Given the description of an element on the screen output the (x, y) to click on. 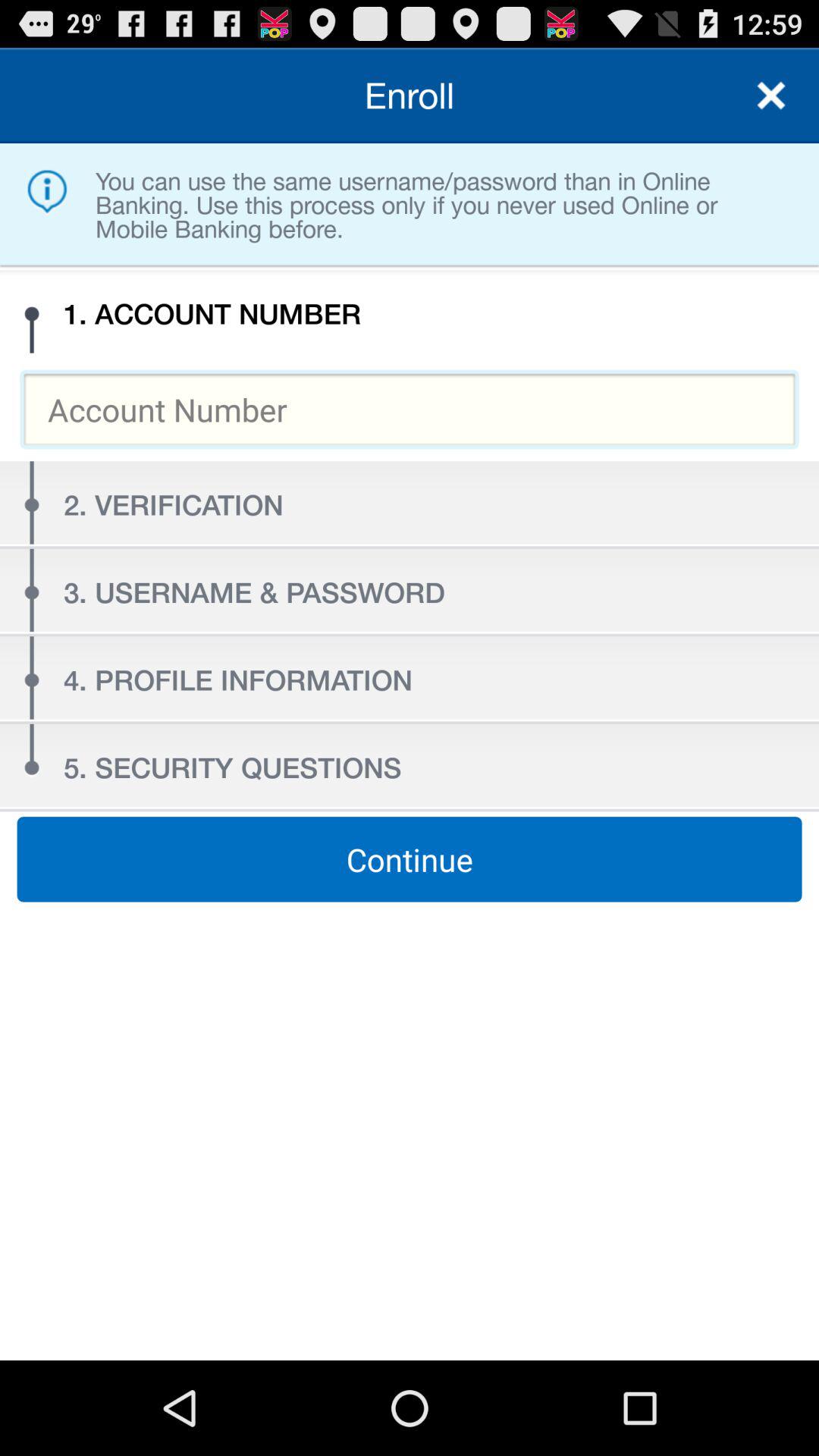
close page (771, 95)
